Given the description of an element on the screen output the (x, y) to click on. 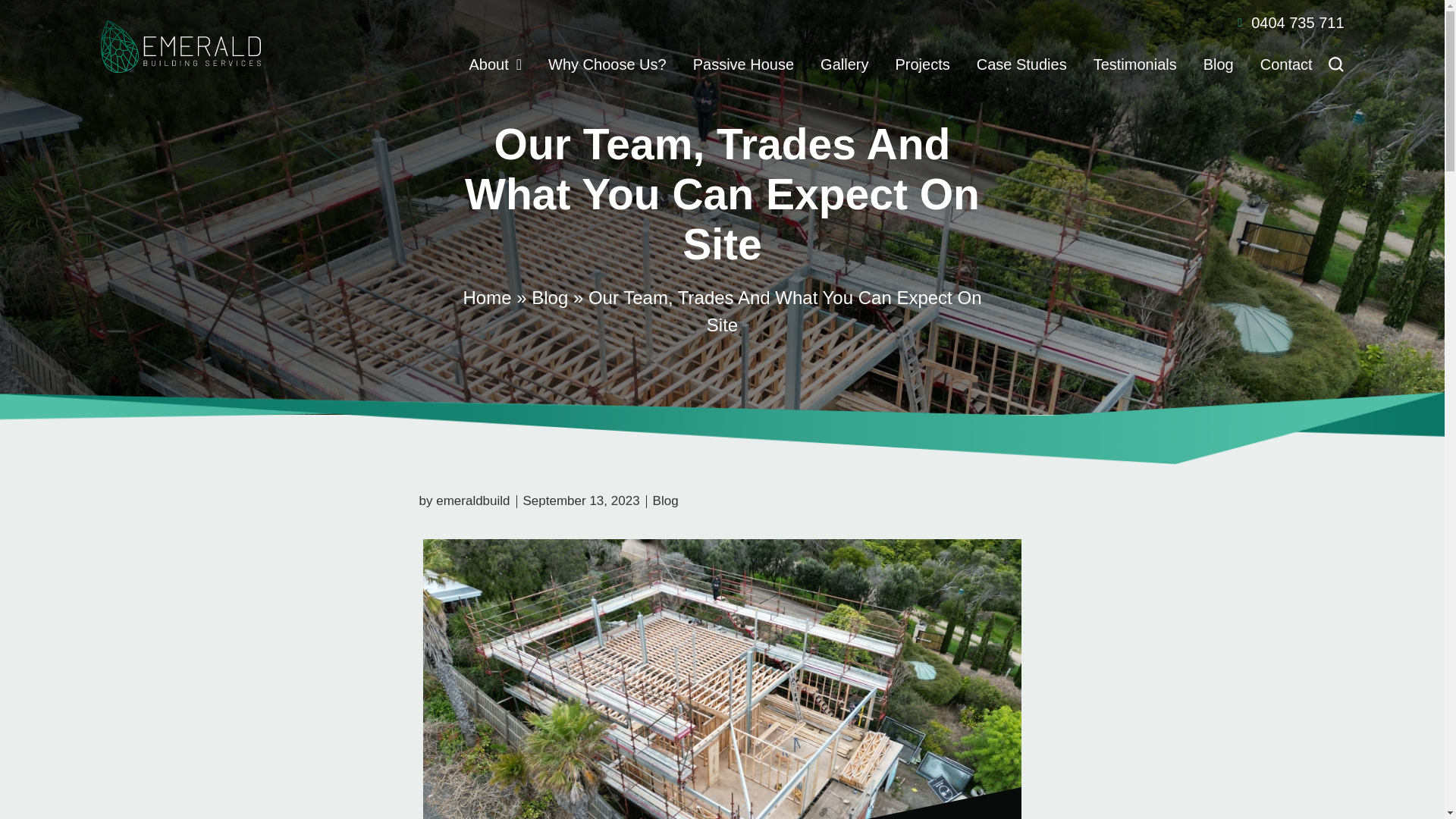
Gallery (844, 64)
Projects (922, 64)
Testimonials (1134, 64)
Why Choose Us? (607, 64)
Passive House (743, 64)
Contact (1286, 64)
Case Studies (1021, 64)
0404 735 711 (814, 22)
About (494, 64)
